Given the description of an element on the screen output the (x, y) to click on. 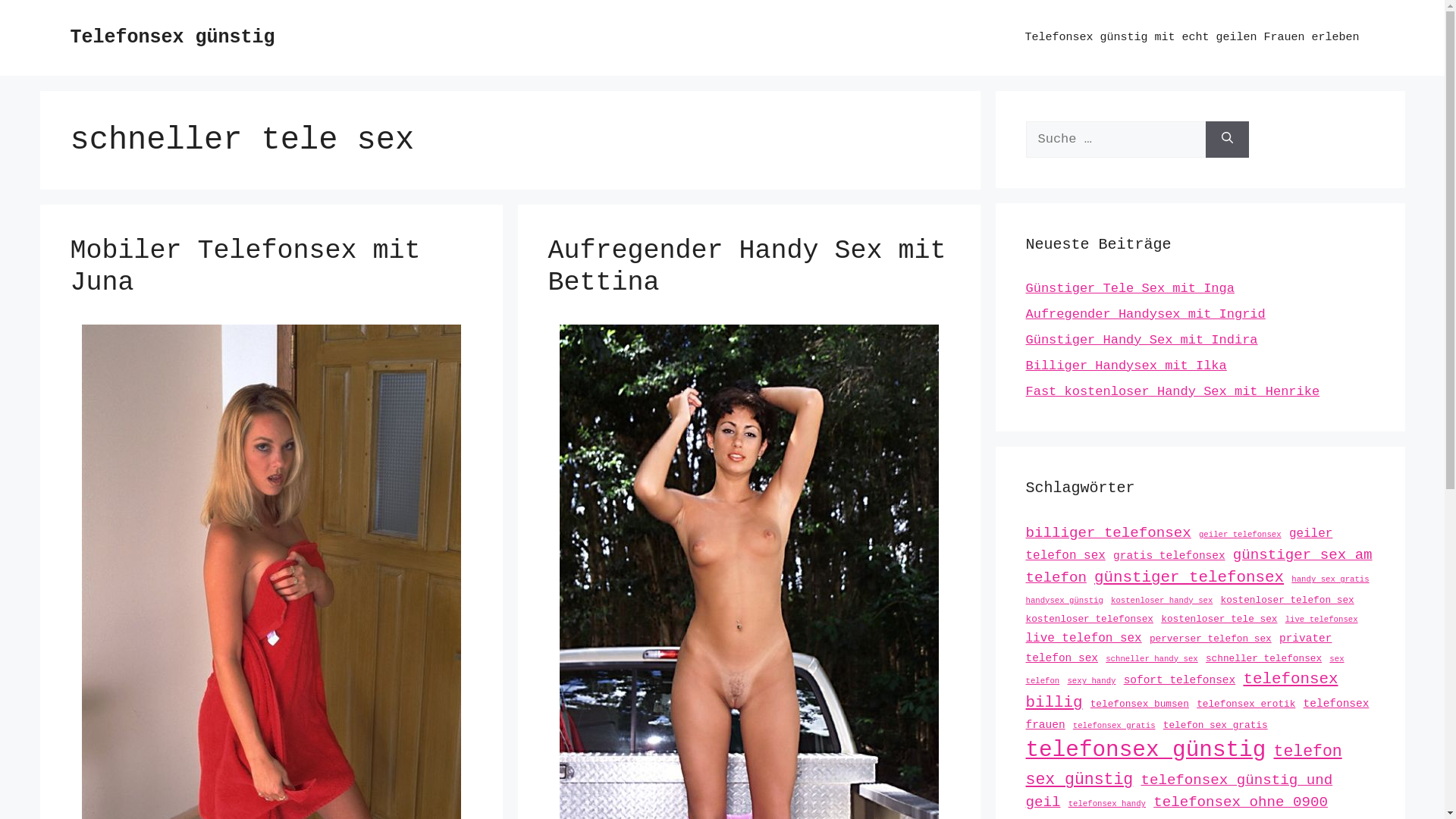
telefonsex handy Element type: text (1106, 803)
kostenloser handy sex Element type: text (1161, 600)
privater telefon sex Element type: text (1178, 648)
telefonsex frauen Element type: text (1196, 713)
telefonsex gratis Element type: text (1114, 725)
telefonsex bumsen Element type: text (1139, 703)
schneller telefonsex Element type: text (1263, 658)
Aufregender Handy Sex mit Bettina Element type: text (746, 266)
live telefon sex Element type: text (1083, 638)
schneller handy sex Element type: text (1151, 658)
geiler telefon sex Element type: text (1178, 544)
sofort telefonsex Element type: text (1179, 680)
telefonsex erotik Element type: text (1245, 703)
Suche nach: Element type: hover (1114, 139)
handy sex gratis Element type: text (1329, 578)
geiler telefonsex Element type: text (1239, 534)
Aufregender Handysex mit Ingrid Element type: text (1144, 313)
perverser telefon sex Element type: text (1210, 638)
Billiger Handysex mit Ilka Element type: text (1125, 364)
telefonsex ohne 0900 Element type: text (1240, 801)
live telefonsex Element type: text (1321, 619)
telefon sex gratis Element type: text (1215, 725)
kostenloser telefonsex Element type: text (1089, 618)
sexy handy Element type: text (1090, 680)
kostenloser telefon sex Element type: text (1287, 599)
gratis telefonsex Element type: text (1169, 555)
telefonsex billig Element type: text (1181, 690)
Fast kostenloser Handy Sex mit Henrike Element type: text (1172, 390)
kostenloser tele sex Element type: text (1219, 618)
Mobiler Telefonsex mit Juna Element type: text (244, 266)
billiger telefonsex Element type: text (1107, 532)
sex telefon Element type: text (1184, 670)
